Given the description of an element on the screen output the (x, y) to click on. 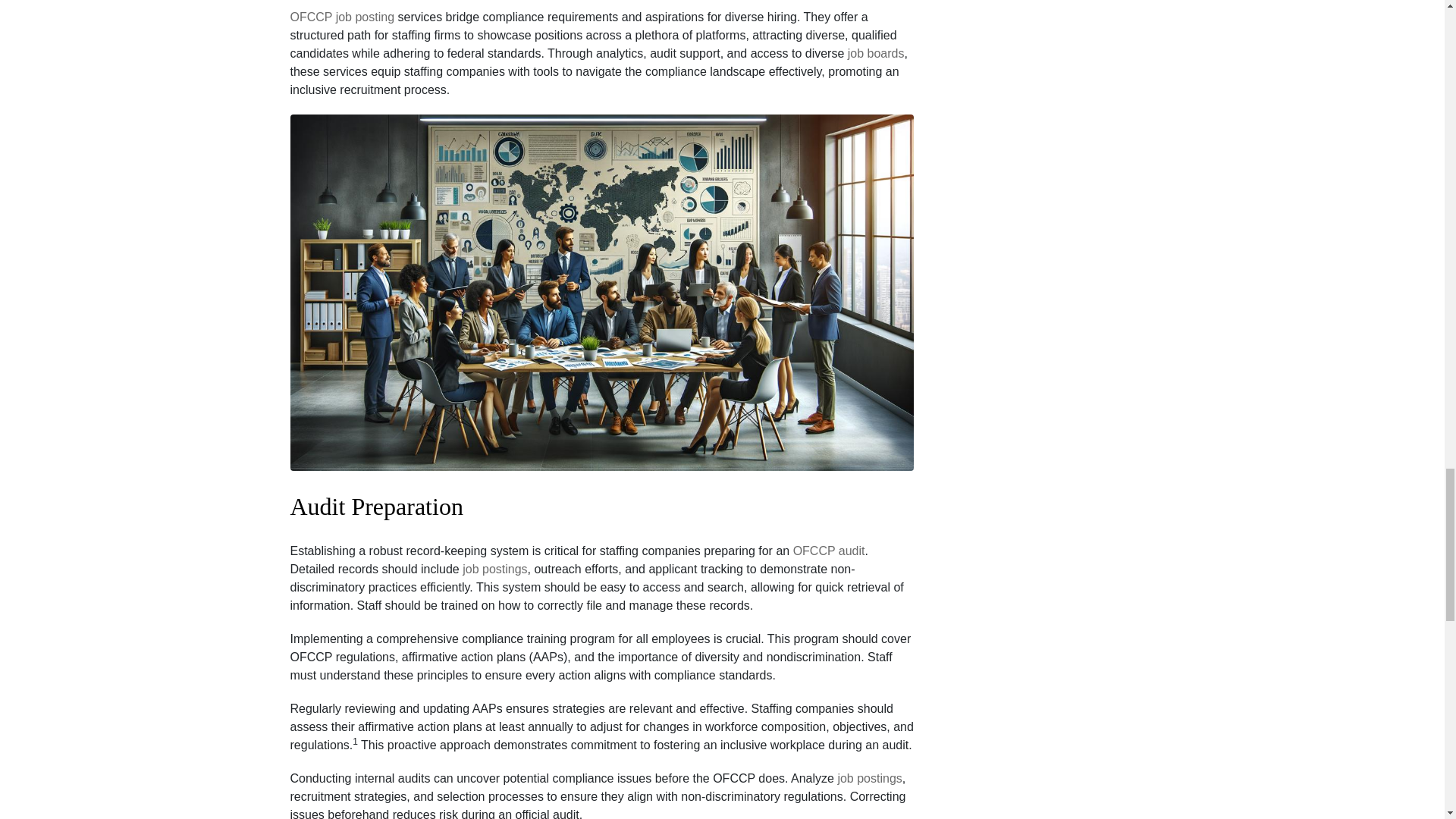
job boards (875, 54)
job postings (869, 778)
OFCCP audit (828, 551)
job postings (495, 569)
OFCCP job posting (341, 17)
